Given the description of an element on the screen output the (x, y) to click on. 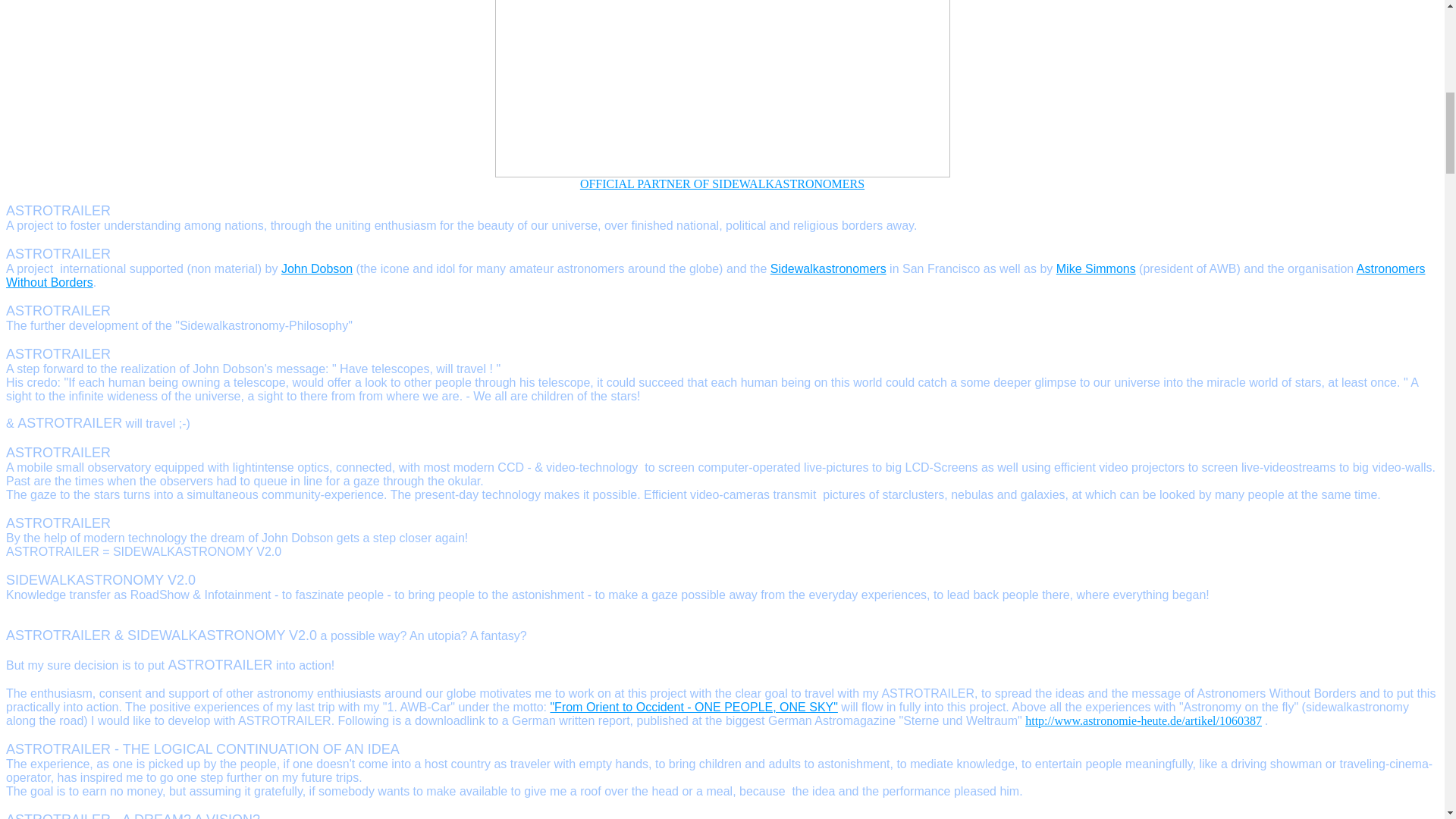
OFFICIAL PARTNER OF SIDEWALKASTRONOMERS (721, 183)
Sidewalkastronomers (828, 268)
Mike Simmons (1096, 268)
Astronomers Without Borders (715, 275)
"From Orient to Occident - ONE PEOPLE, ONE SKY" (693, 707)
John Dobson (316, 268)
